Given the description of an element on the screen output the (x, y) to click on. 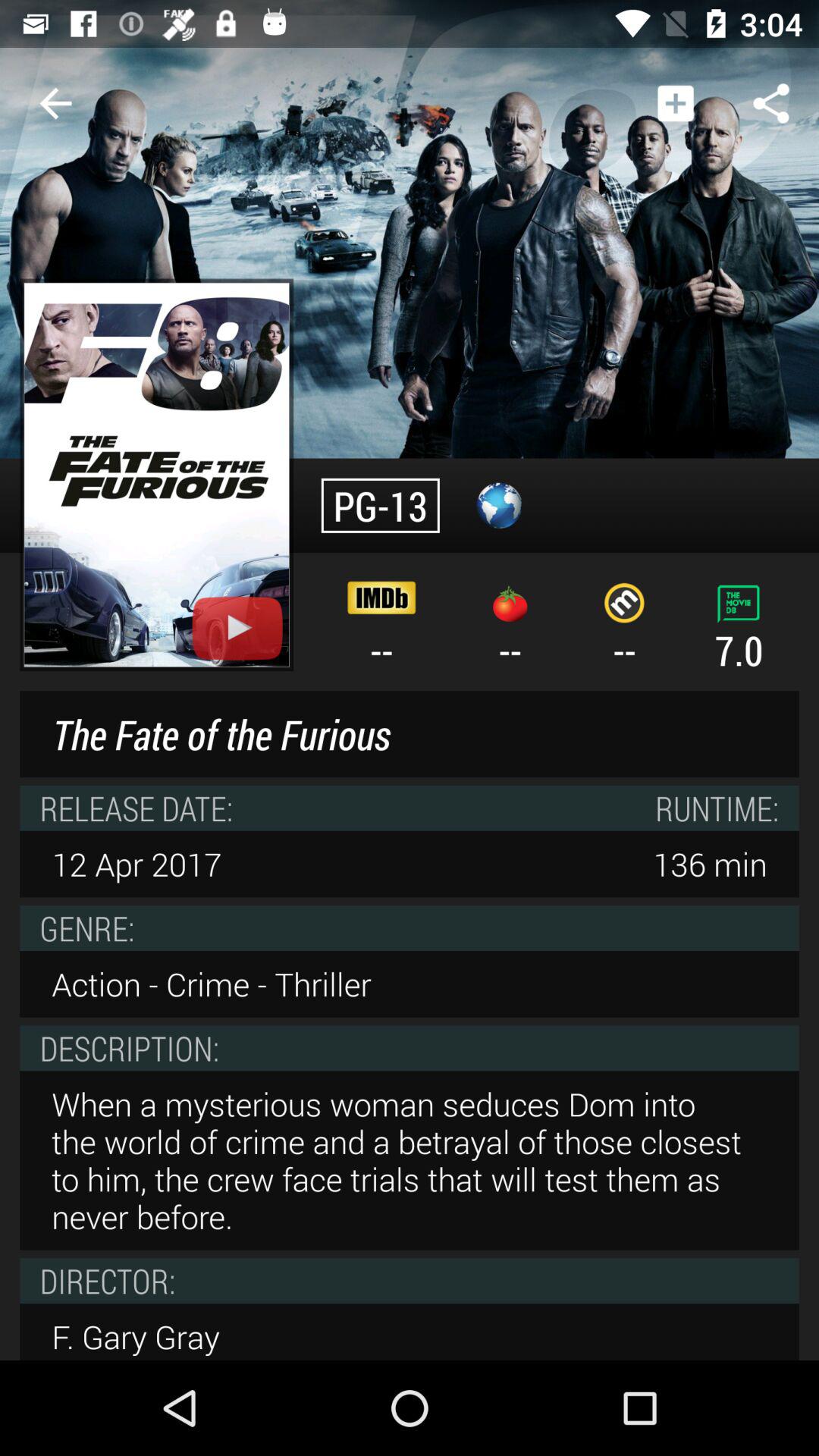
view world (499, 505)
